Given the description of an element on the screen output the (x, y) to click on. 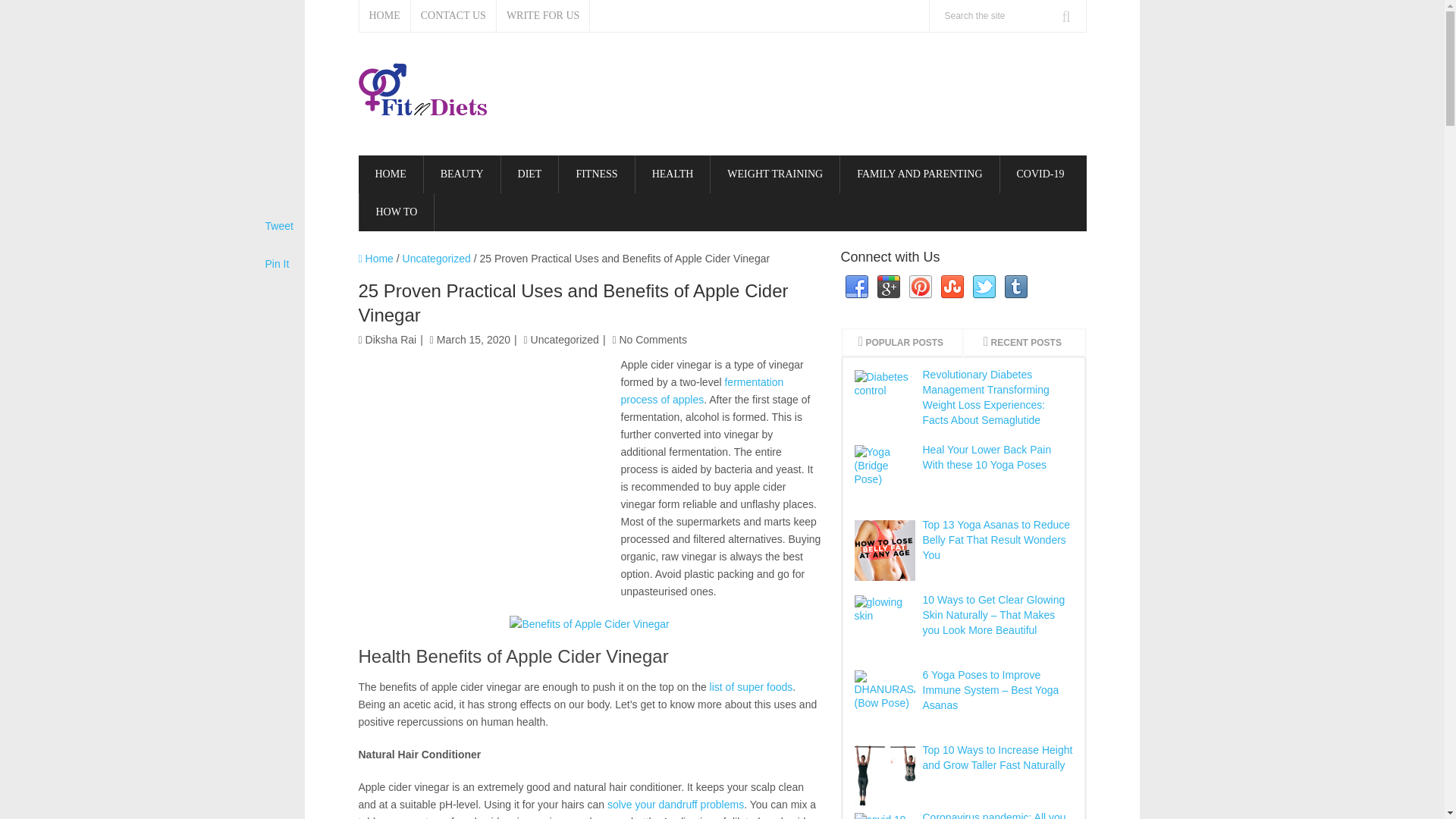
DIET (529, 174)
HOW TO (396, 211)
Twitter (983, 287)
Diksha Rai (390, 339)
HEALTH (672, 174)
fermentation process of apples (701, 390)
WRITE FOR US (542, 15)
No Comments (651, 339)
HOME (390, 174)
FITNESS (596, 174)
FAMILY AND PARENTING (919, 174)
Posts by Diksha Rai (390, 339)
 Home (375, 258)
Tumblr (1015, 287)
